Given the description of an element on the screen output the (x, y) to click on. 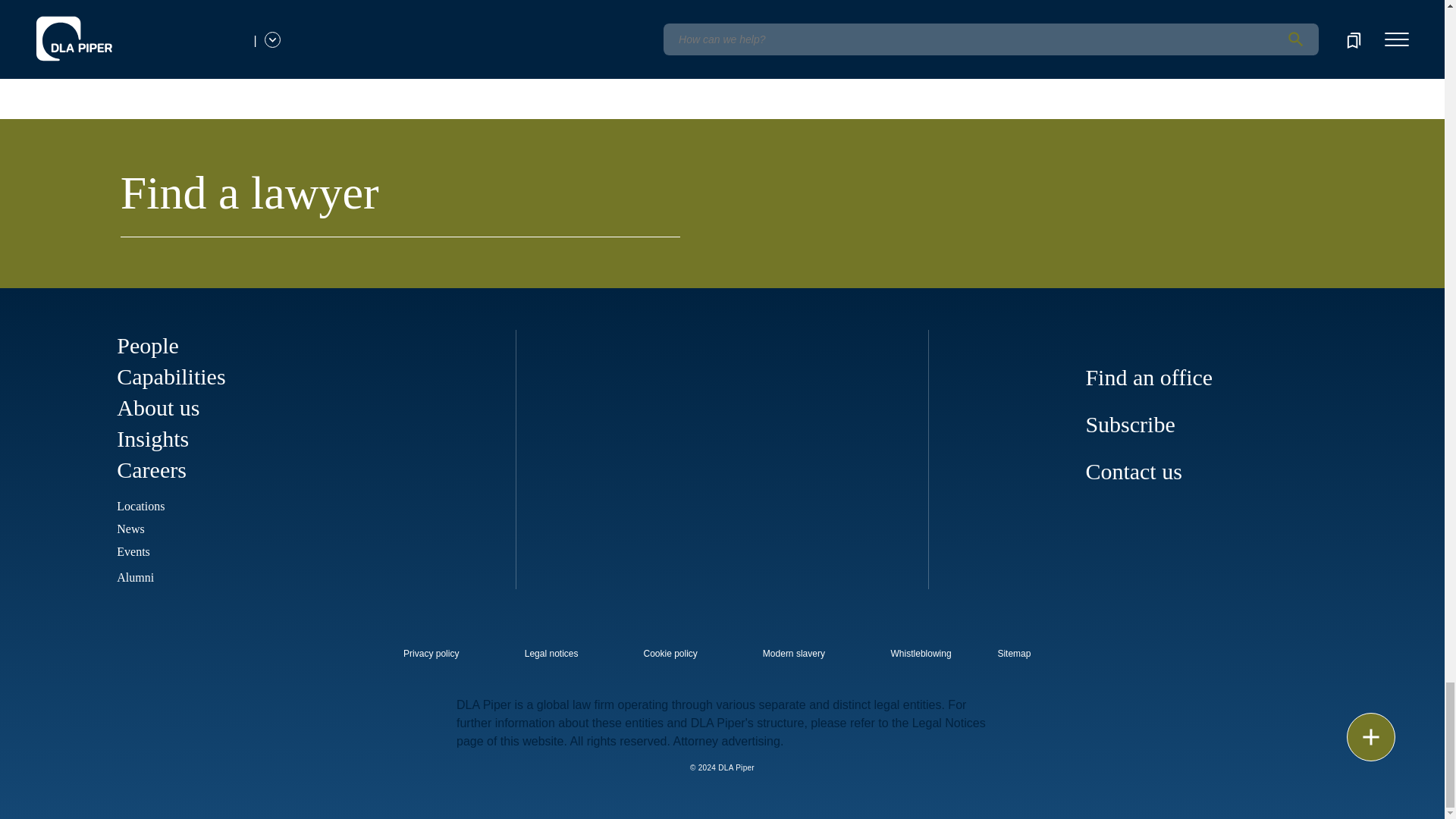
internal (793, 653)
internal (920, 653)
external (1024, 649)
internal (430, 653)
internal (670, 653)
internal (549, 653)
